Given the description of an element on the screen output the (x, y) to click on. 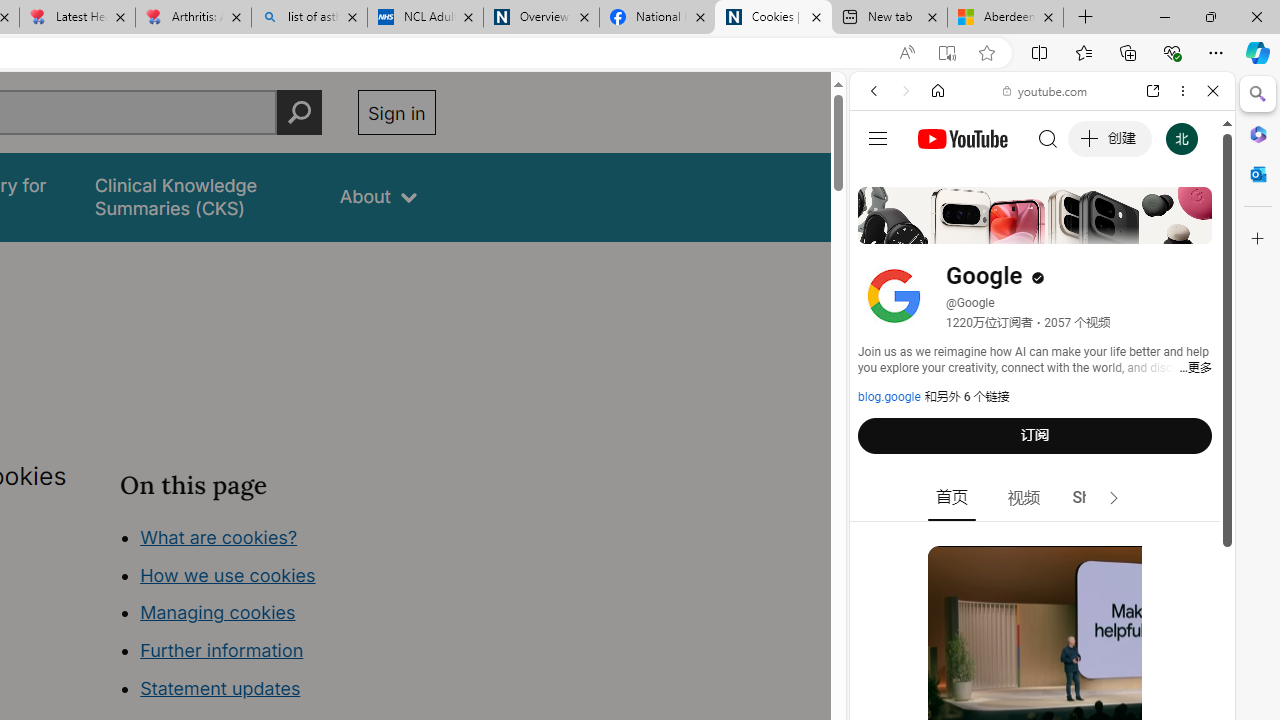
false (198, 196)
Trailer #2 [HD] (1042, 594)
Google (1042, 494)
Search videos from youtube.com (1005, 657)
#you (1042, 445)
Music (1042, 543)
NCL Adult Asthma Inhaler Choice Guideline (424, 17)
youtube.com (1046, 90)
Further information (221, 650)
YouTube (1034, 296)
